Given the description of an element on the screen output the (x, y) to click on. 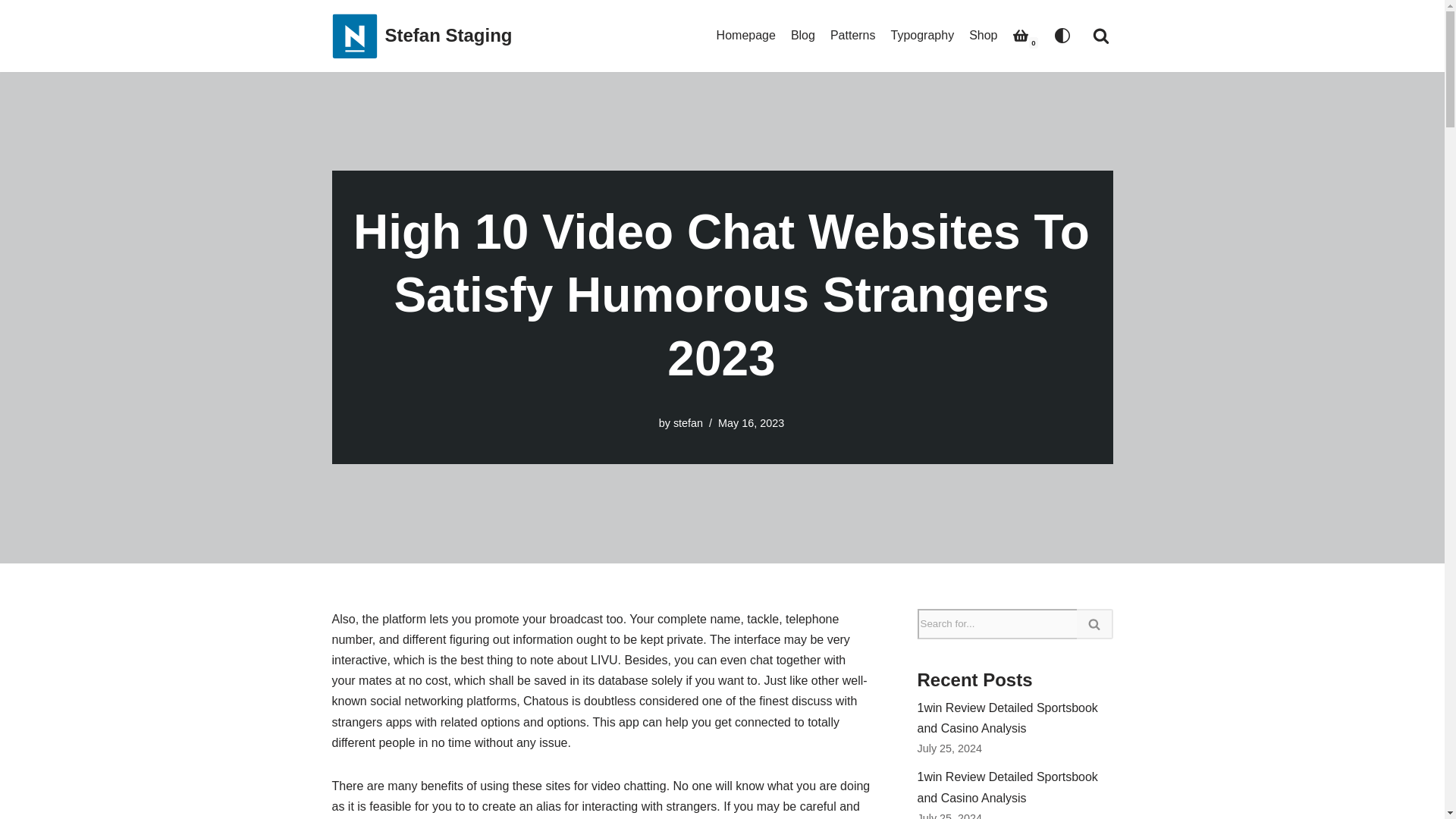
stefan (687, 422)
Skip to content (11, 31)
Patterns (852, 35)
Stefan Staging (421, 35)
1win Review Detailed Sportsbook and Casino Analysis (1007, 786)
Stefan Staging (421, 35)
1win Review Detailed Sportsbook and Casino Analysis (1007, 717)
Posts by stefan (687, 422)
Typography (923, 35)
Shop (983, 35)
Blog (802, 35)
0 (1020, 35)
Homepage (746, 35)
